Given the description of an element on the screen output the (x, y) to click on. 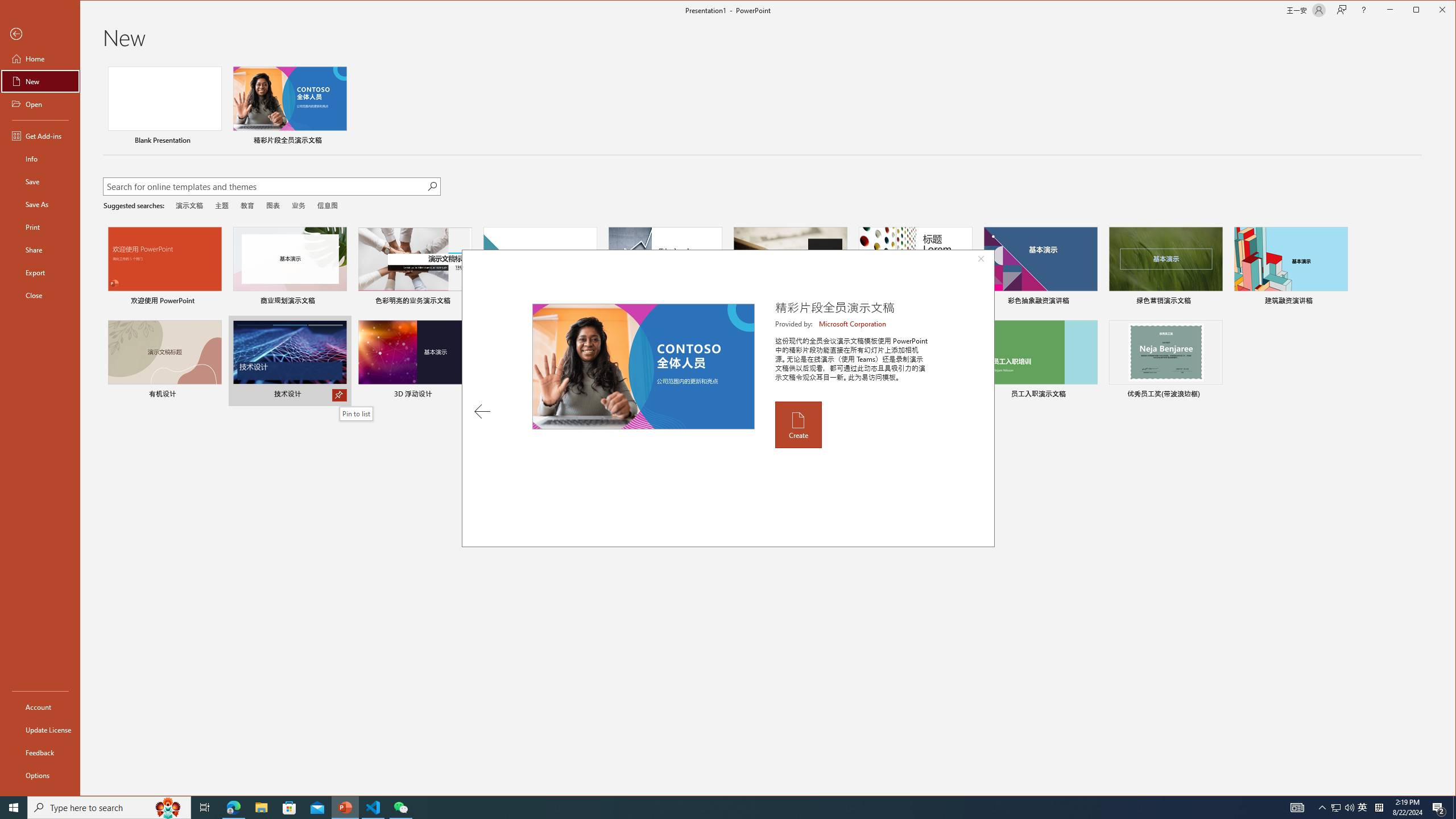
Class: NetUIScrollBar (1450, 428)
Pin to list (1215, 395)
Update License (40, 729)
Microsoft Corporation (853, 323)
Back (40, 34)
